Given the description of an element on the screen output the (x, y) to click on. 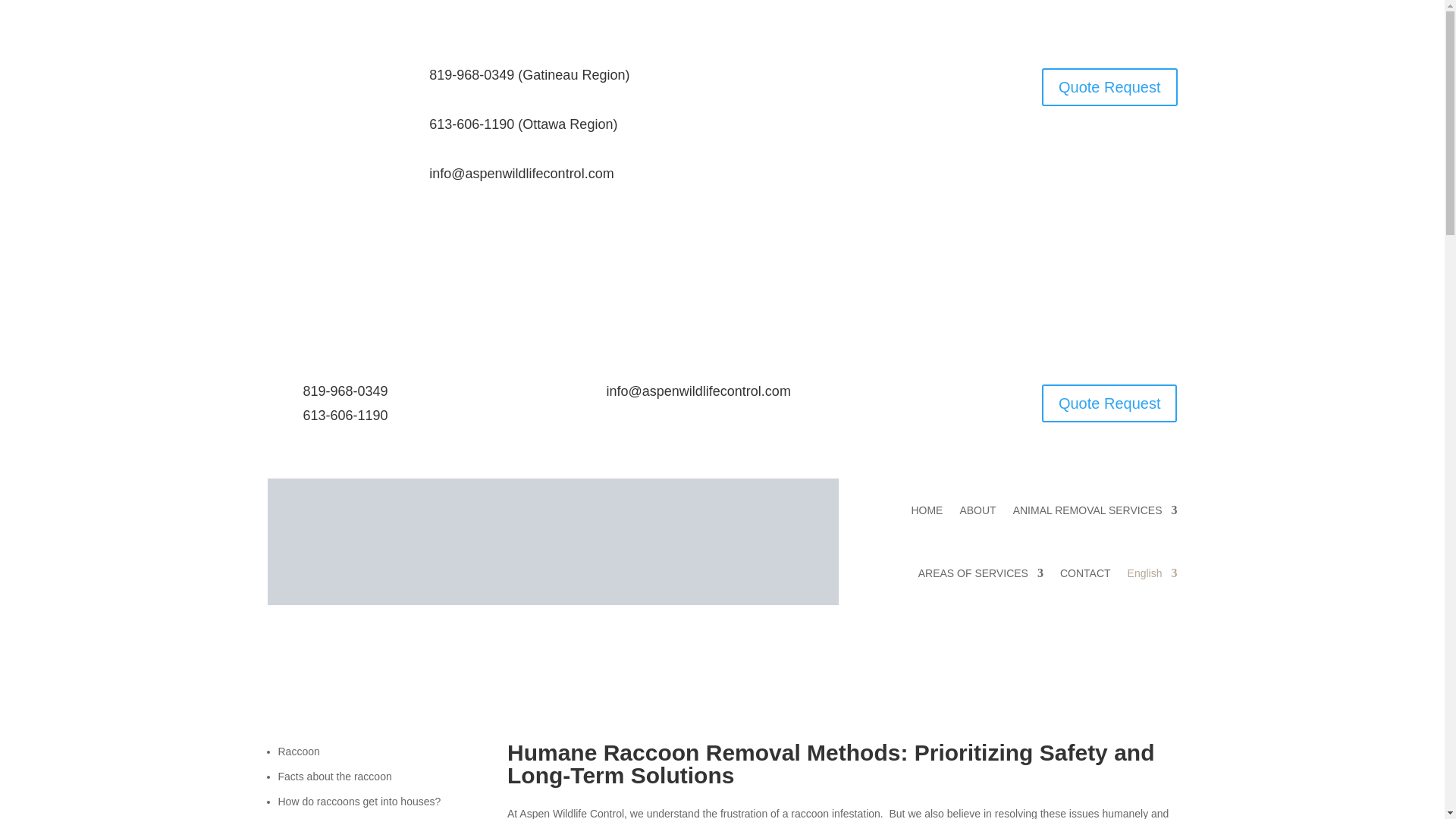
Quote Request (1109, 403)
Raccoon (298, 751)
Facts about the raccoon (334, 776)
AREAS OF SERVICES (980, 574)
ANIMAL REMOVAL SERVICES (1095, 510)
How do raccoons get into houses? (359, 801)
Quote Request (1109, 86)
